Given the description of an element on the screen output the (x, y) to click on. 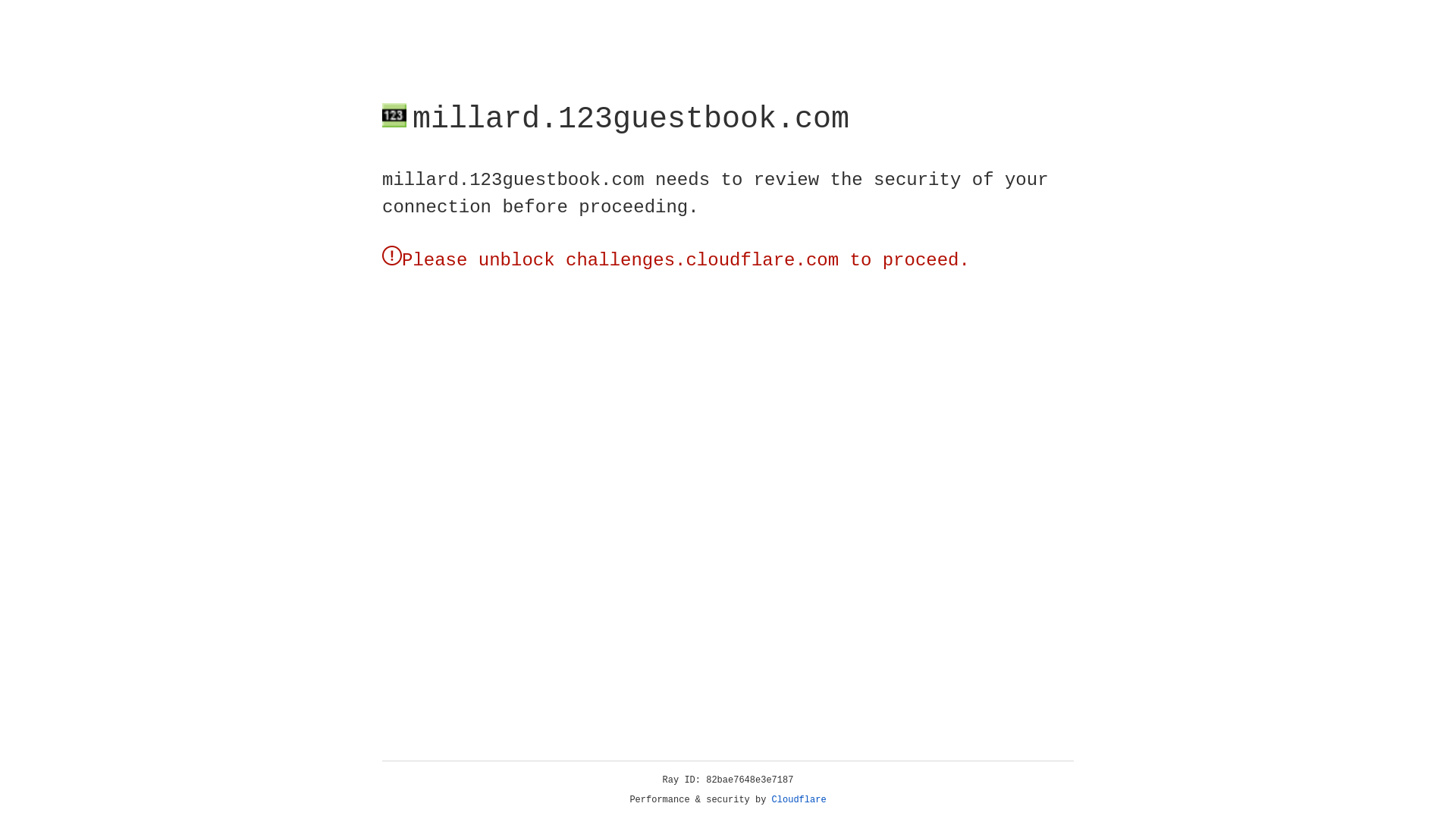
Cloudflare Element type: text (798, 799)
